Given the description of an element on the screen output the (x, y) to click on. 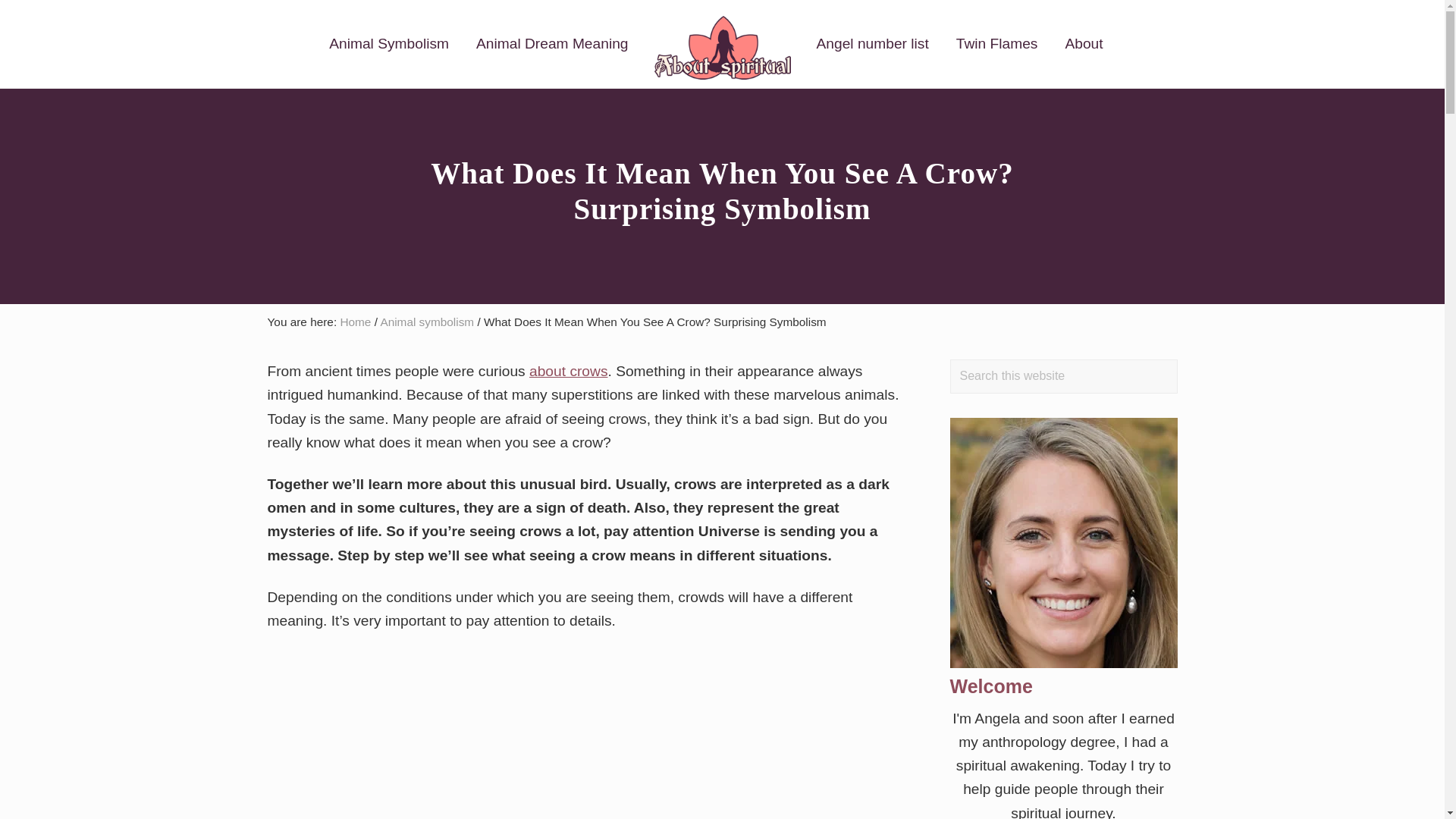
About (1083, 43)
Home (355, 321)
Angel number list (871, 43)
Animal Dream Meaning (552, 43)
Animal Symbolism (389, 43)
Animal symbolism (427, 321)
about crows (568, 371)
Twin Flames (996, 43)
